Given the description of an element on the screen output the (x, y) to click on. 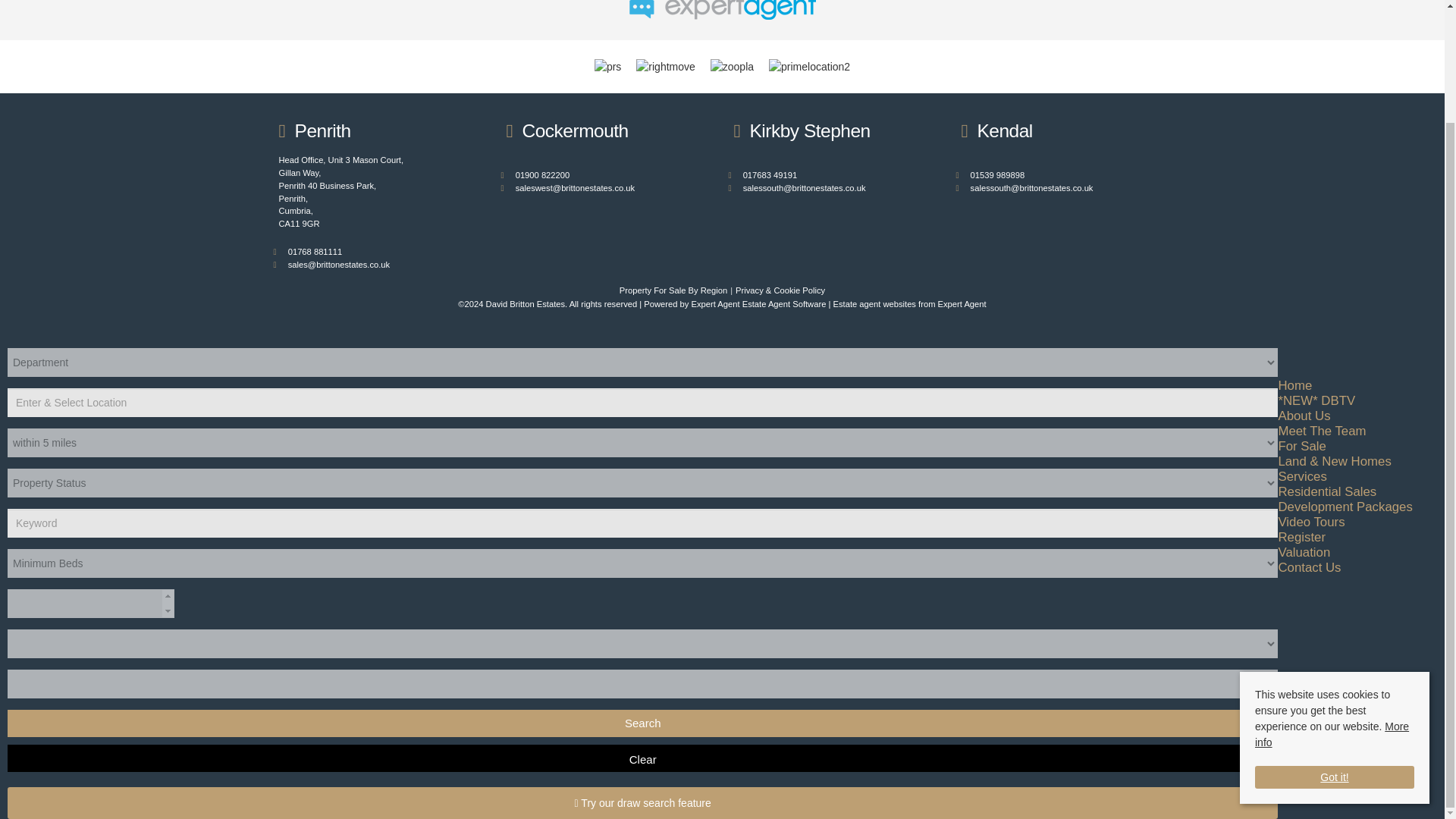
Property For Sale By Region (673, 290)
Search (642, 723)
Estate Agent Software (784, 303)
Estate agent websites (873, 303)
Got it! (1334, 635)
Clear (642, 758)
More info (1332, 594)
